Given the description of an element on the screen output the (x, y) to click on. 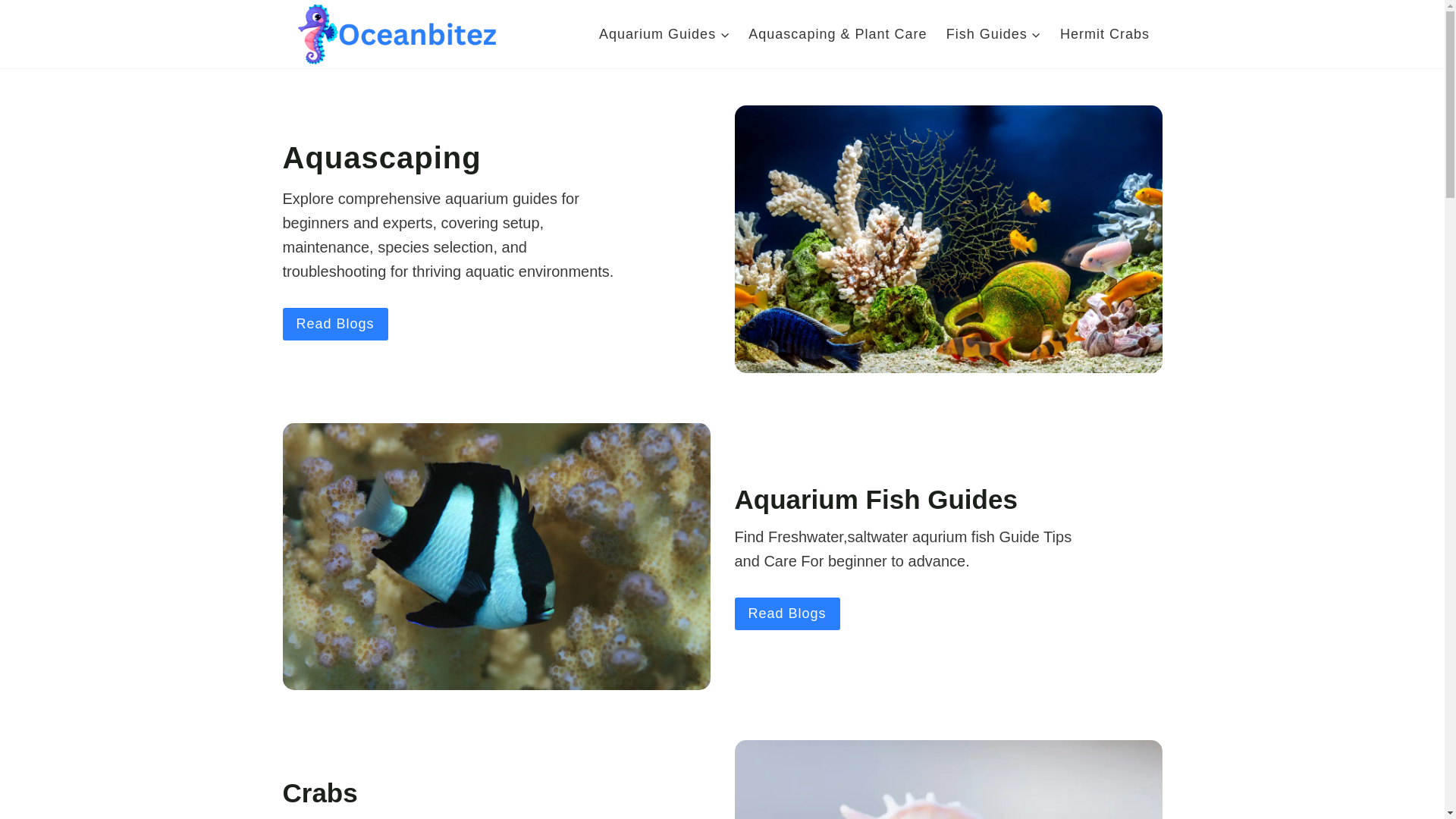
Read Blogs (334, 323)
Hermit Crabs (1103, 34)
Fish Guides (992, 34)
Aquarium Guides (663, 34)
Read Blogs (786, 613)
